Given the description of an element on the screen output the (x, y) to click on. 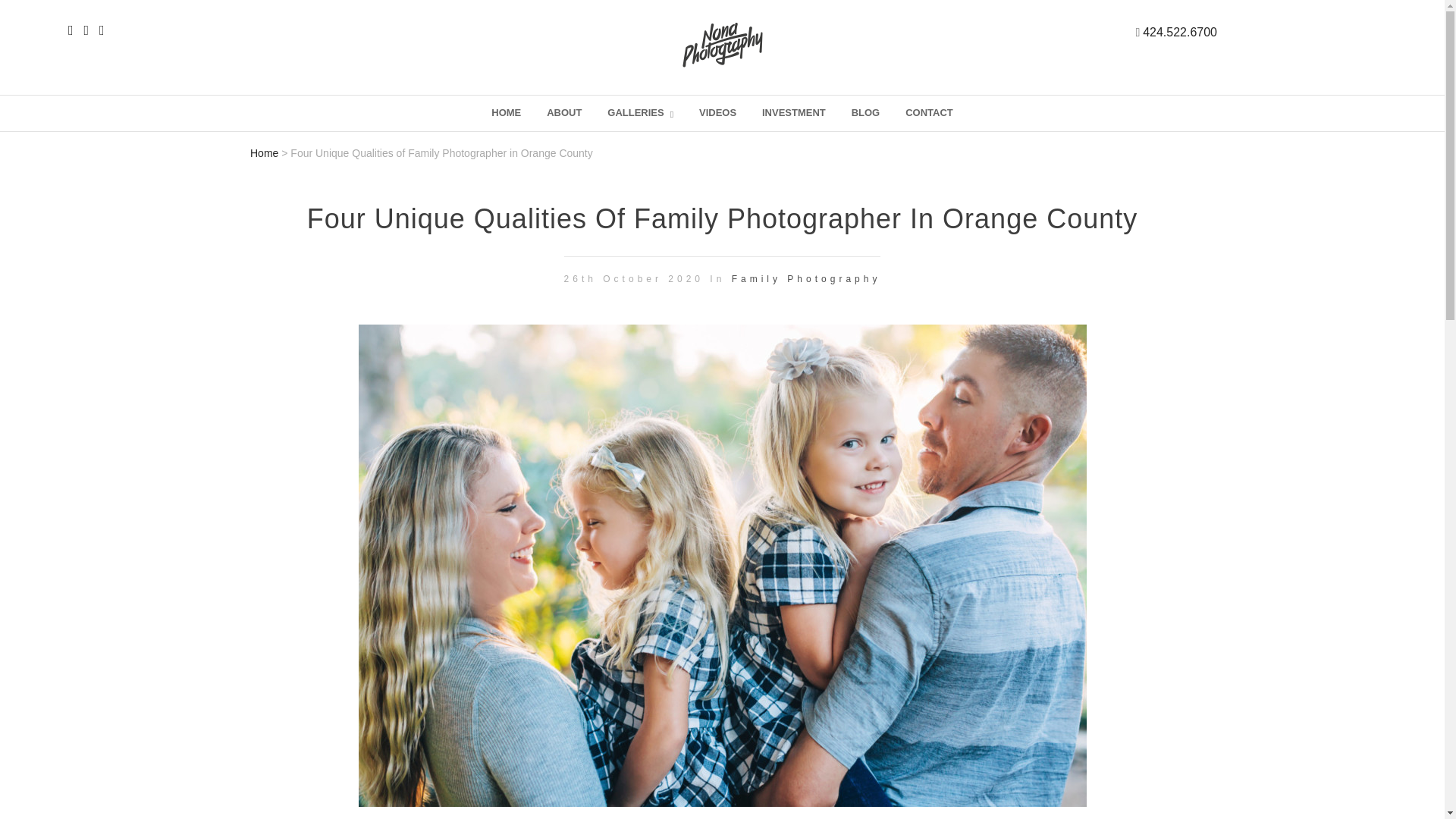
424.522.6700 (1179, 31)
BLOG (865, 113)
HOME (506, 113)
INVESTMENT (794, 113)
ABOUT (563, 113)
CONTACT (928, 113)
GALLERIES (639, 113)
VIDEOS (717, 113)
